Given the description of an element on the screen output the (x, y) to click on. 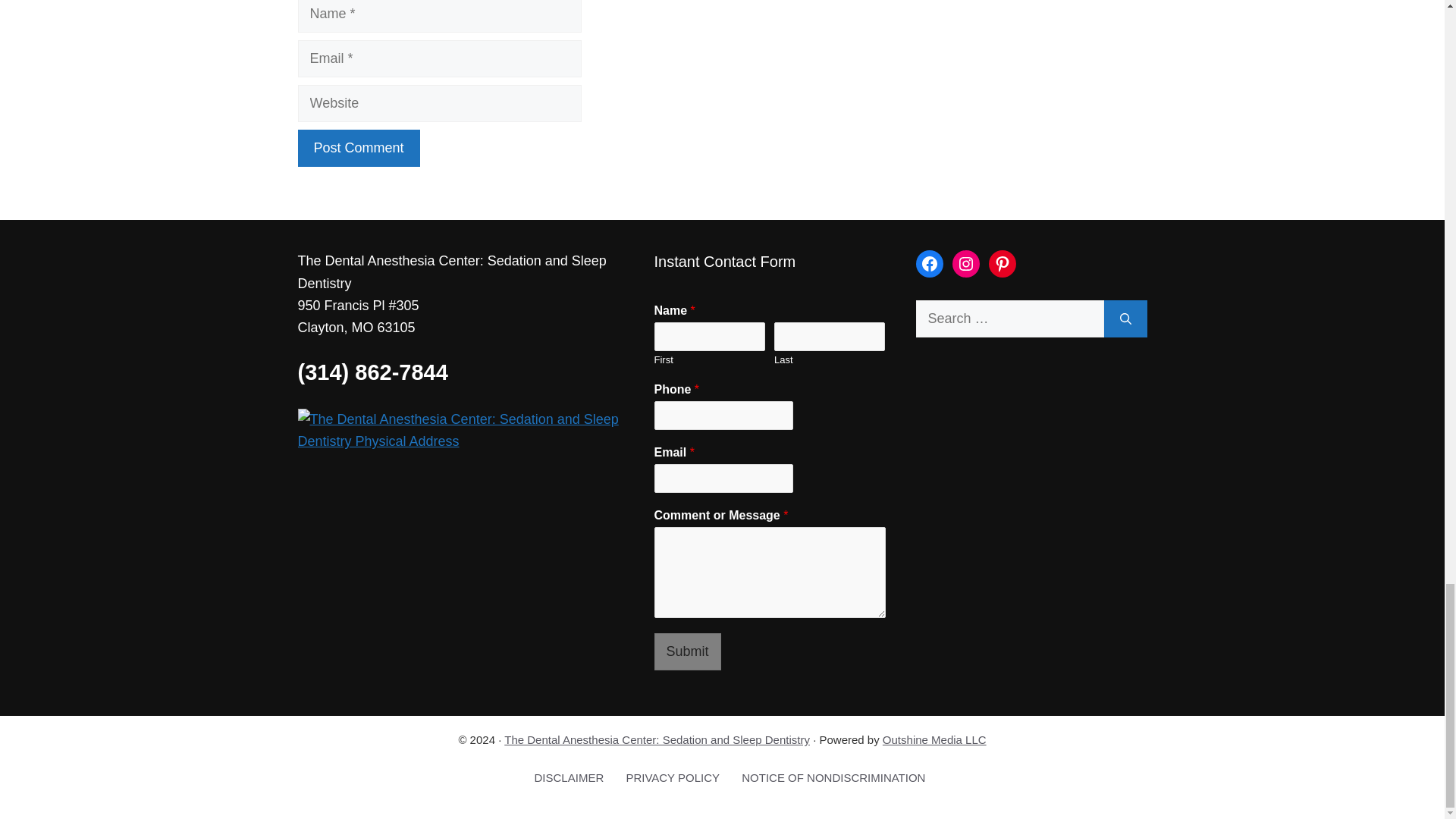
Search for: (1009, 318)
Outshine Media LLC (934, 739)
Post Comment (358, 148)
